Given the description of an element on the screen output the (x, y) to click on. 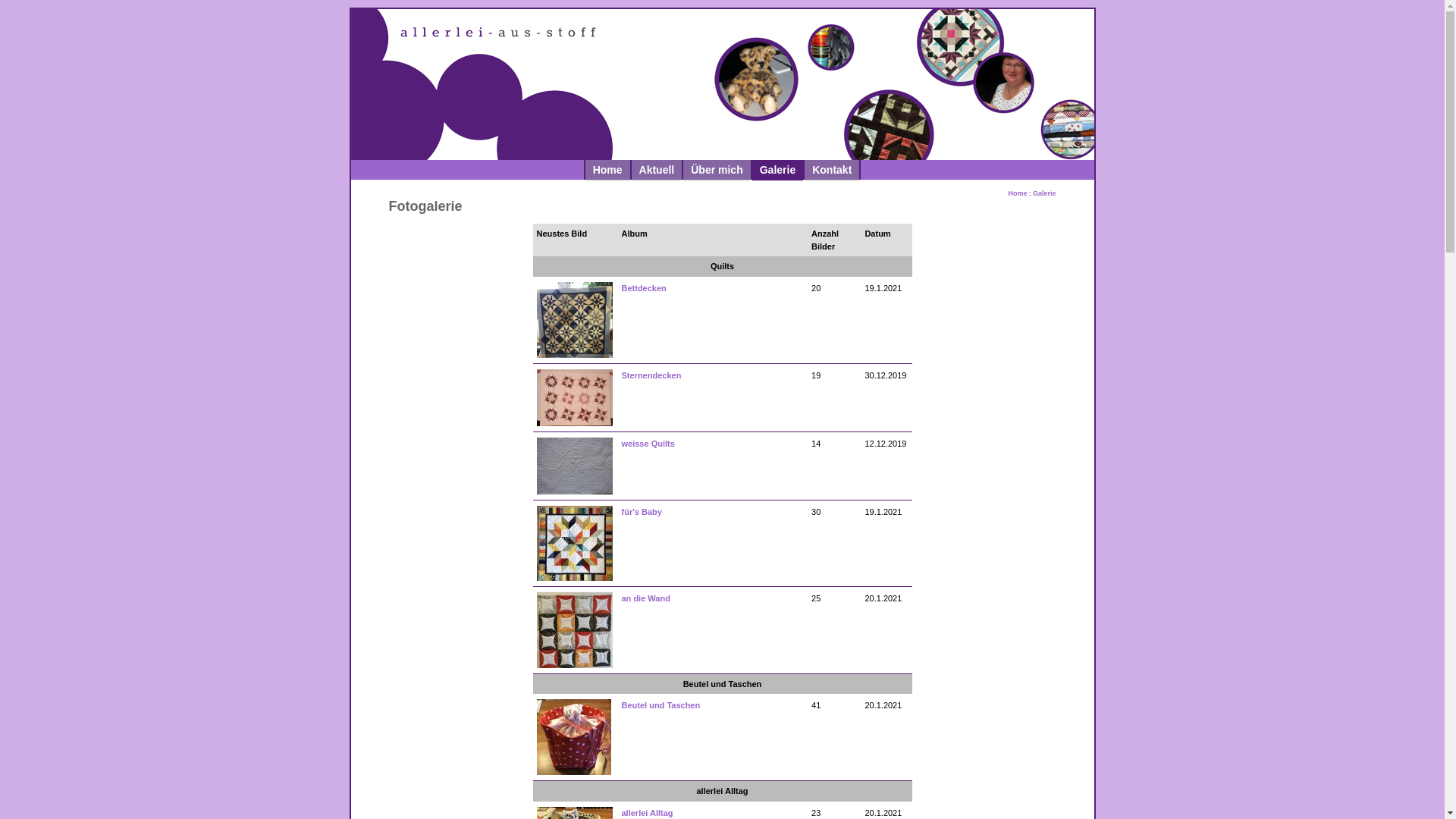
Kontakt Element type: text (831, 169)
Aktuell Element type: text (656, 169)
allerlei Alltag Element type: text (647, 812)
Sternendecken Element type: text (651, 374)
Bettdecken Element type: text (643, 287)
Galerie Element type: text (777, 169)
Beutel und Taschen Element type: text (660, 704)
Home Element type: text (607, 169)
an die Wand Element type: text (645, 597)
weisse Quilts Element type: text (647, 442)
Galerie Element type: text (1044, 196)
Home Element type: text (1016, 196)
